Given the description of an element on the screen output the (x, y) to click on. 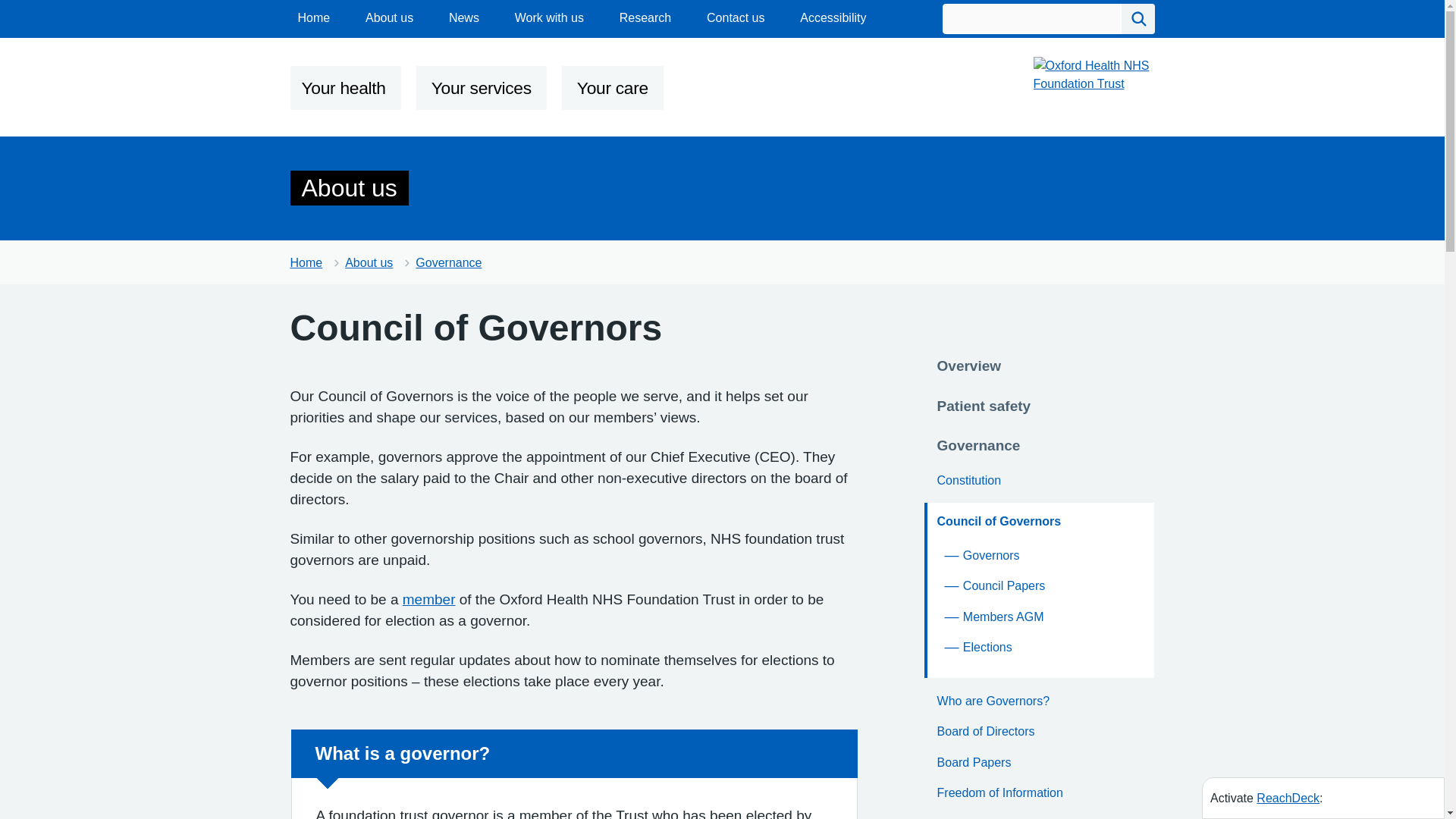
About us (389, 18)
Accessibility (832, 18)
member (429, 599)
Your services (481, 87)
Your care (612, 87)
Overview (969, 363)
Work with us (549, 18)
About us (369, 262)
Home (313, 18)
Search (1137, 19)
Home (305, 262)
Patient safety (983, 404)
Governance (447, 262)
Your health (343, 87)
Research (645, 18)
